Given the description of an element on the screen output the (x, y) to click on. 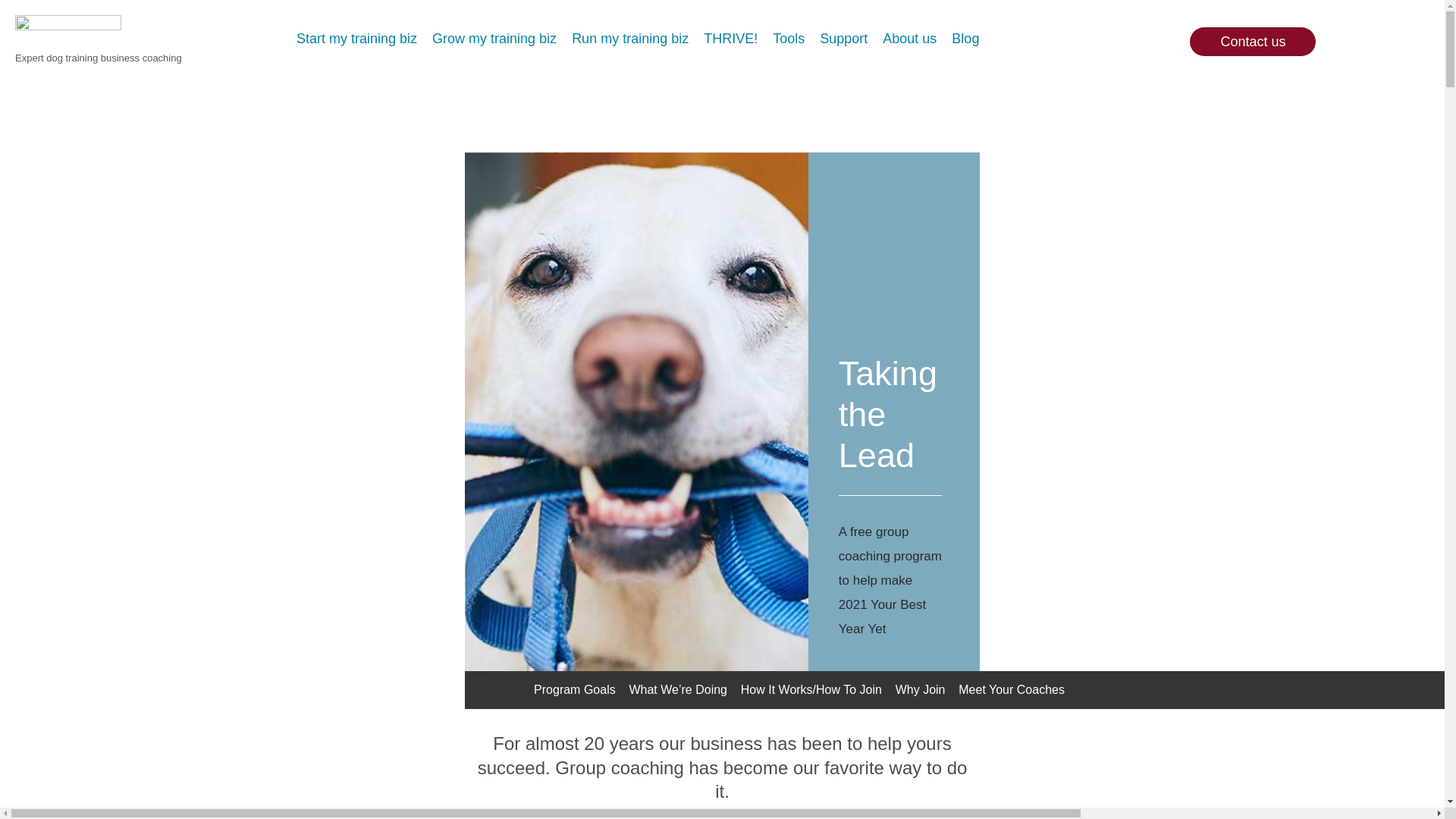
About us (909, 37)
Support (843, 37)
Start my training biz (356, 37)
THRIVE! (730, 37)
Blog (965, 37)
Tools (788, 37)
Grow my training biz (494, 37)
Run my training biz (629, 37)
